Given the description of an element on the screen output the (x, y) to click on. 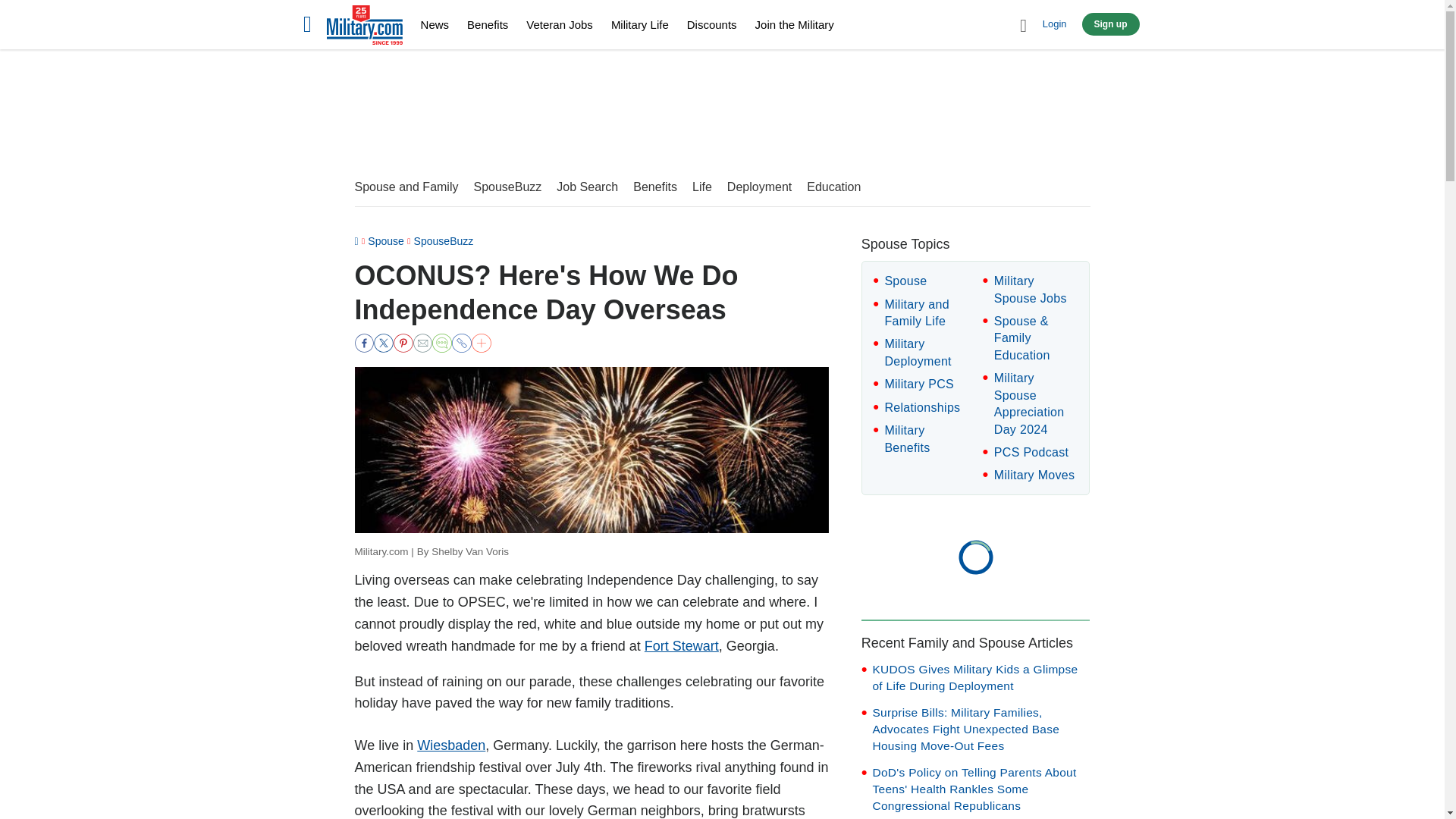
Home (364, 27)
Veteran Jobs (558, 24)
Benefits (487, 24)
Military Life (639, 24)
